Given the description of an element on the screen output the (x, y) to click on. 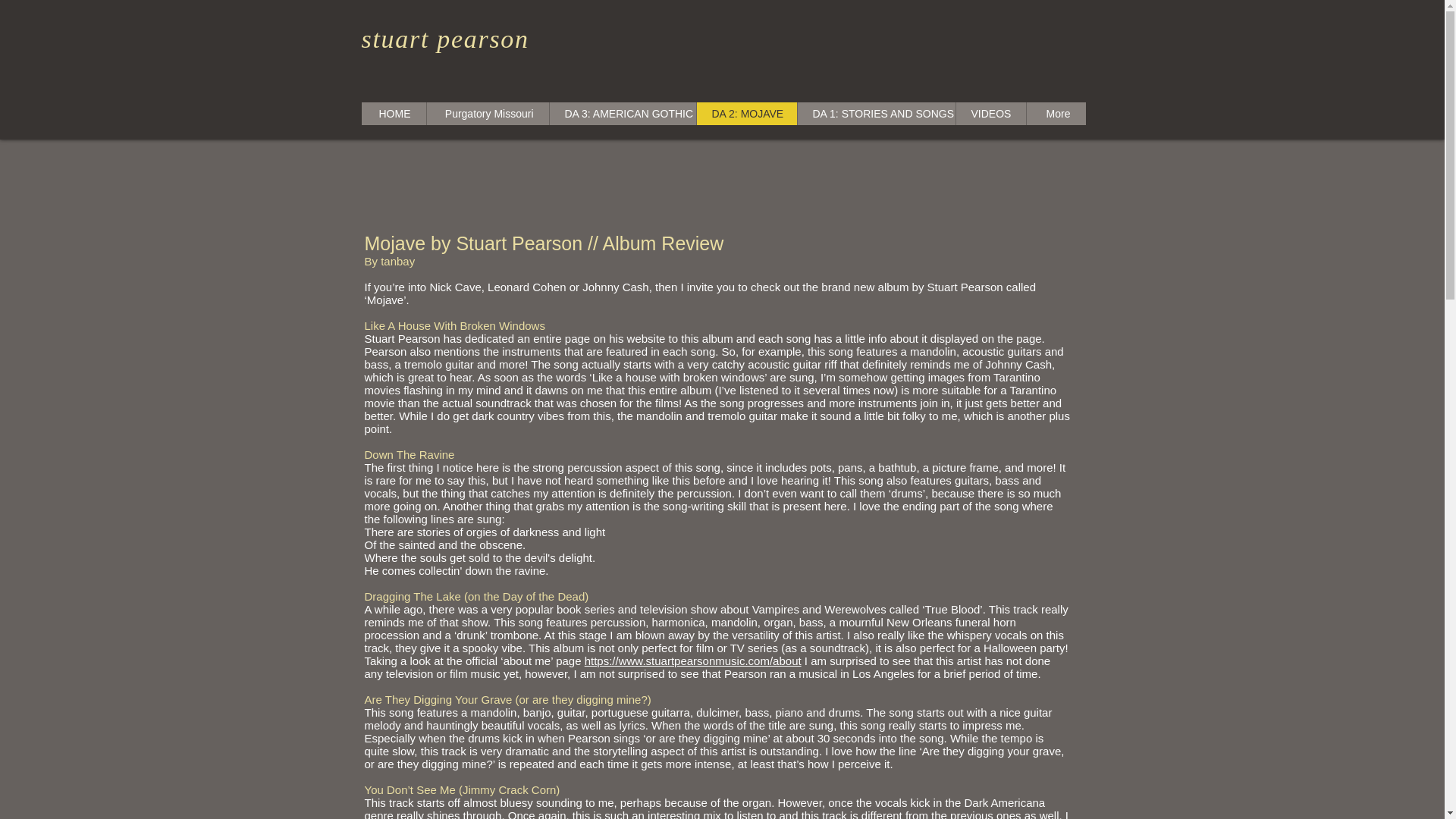
Purgatory Missouri (487, 113)
DA 1: STORIES AND SONGS (875, 113)
stuart pearson (444, 39)
DA 2: MOJAVE (745, 113)
DA 3: AMERICAN GOTHIC (621, 113)
HOME (393, 113)
